Given the description of an element on the screen output the (x, y) to click on. 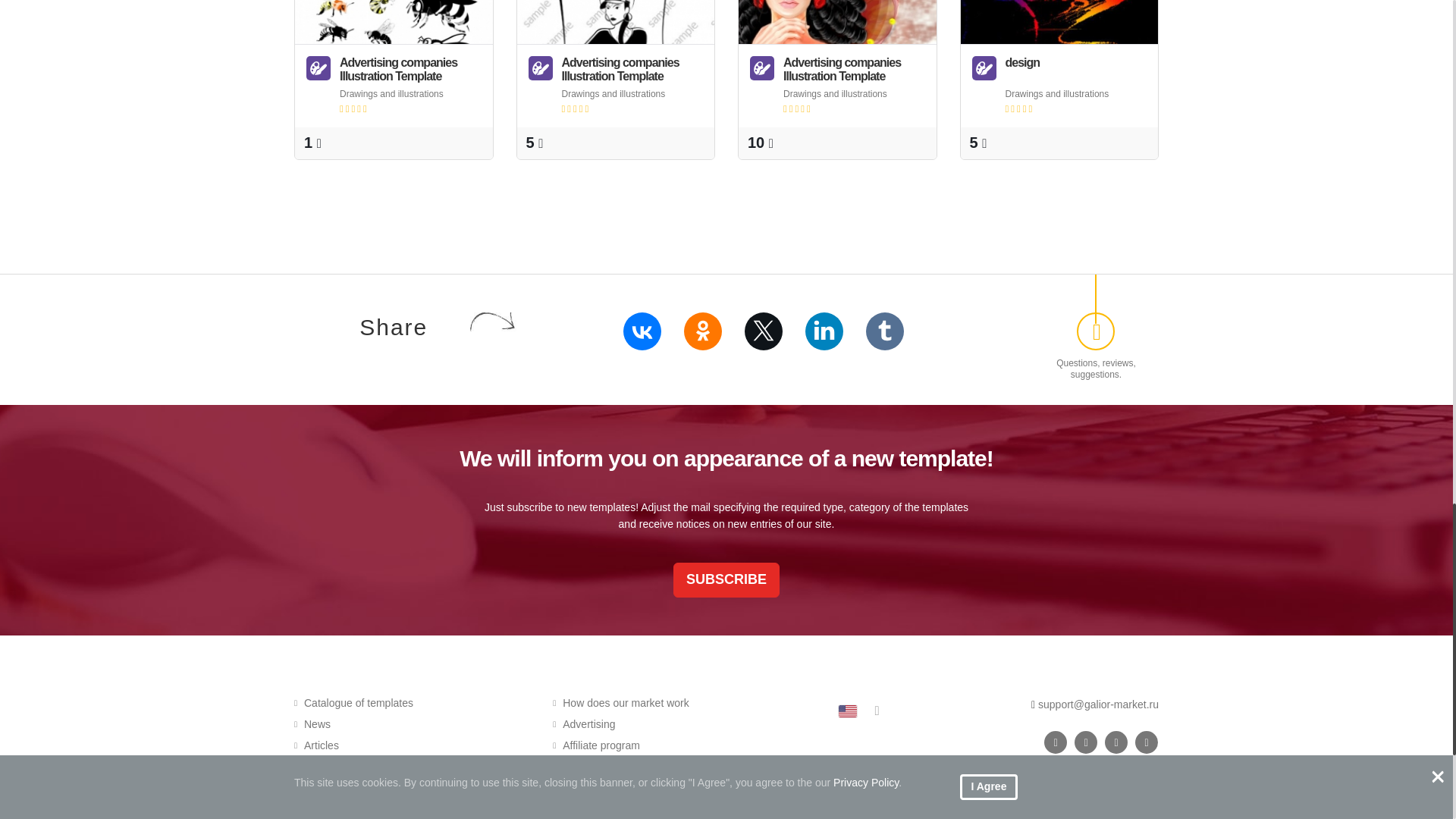
Twitter (763, 331)
Advertising companies Illustration Template (837, 22)
LinkedIn (824, 331)
Advertising companies Illustration Template (615, 22)
Tumblr (885, 331)
Our LinkedIn group (1146, 742)
Advertising companies Illustration Template (394, 22)
Facebook group (1085, 742)
Our VK group (1055, 742)
Twit (1115, 742)
design (1058, 22)
